Given the description of an element on the screen output the (x, y) to click on. 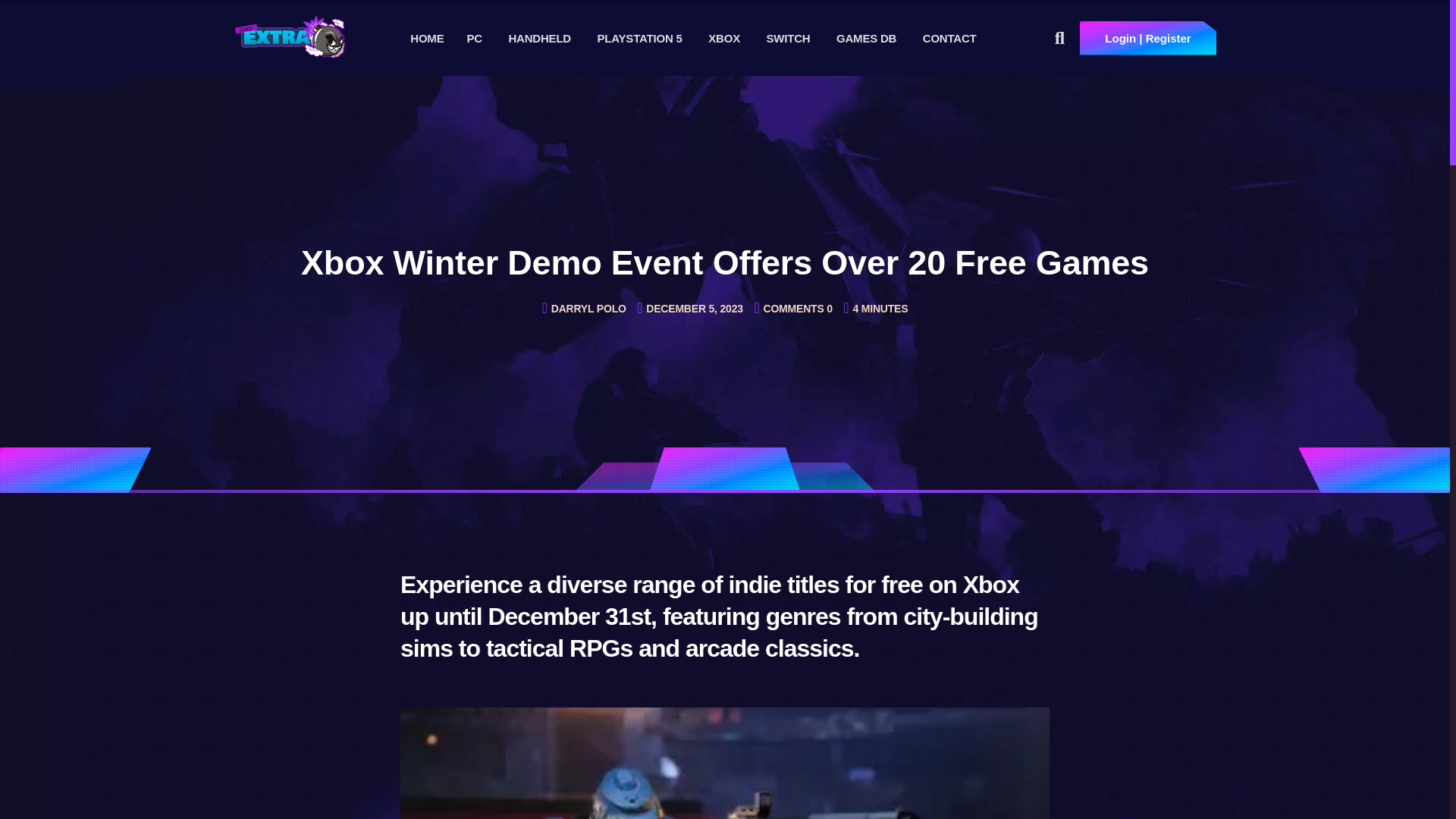
XBOX (723, 37)
HOME (427, 37)
PLAYSTATION 5 (639, 37)
HANDHELD (539, 37)
PC (473, 37)
GAMES DB (865, 37)
CONTACT (949, 37)
SWITCH (787, 37)
